Given the description of an element on the screen output the (x, y) to click on. 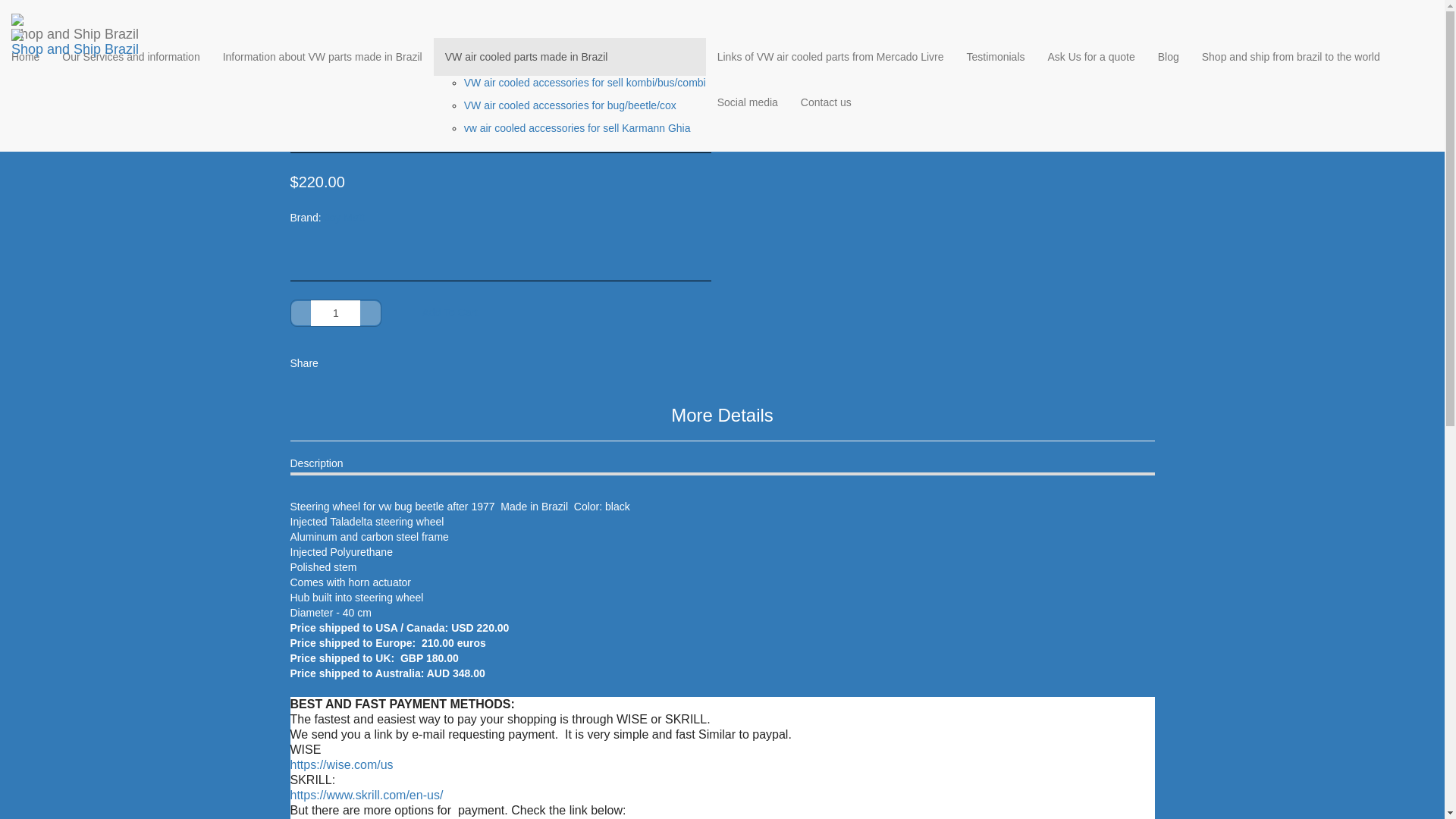
1 (335, 312)
Jay Matt (344, 217)
Blog (1169, 56)
Contact us (826, 102)
Add To Cart (449, 312)
vw air cooled accessories for sell Karmann Ghia (577, 128)
VW air cooled parts made in Brazil (413, 12)
Shop and Ship Brazil (74, 18)
Testimonials (995, 56)
Our Services and information (130, 56)
